Given the description of an element on the screen output the (x, y) to click on. 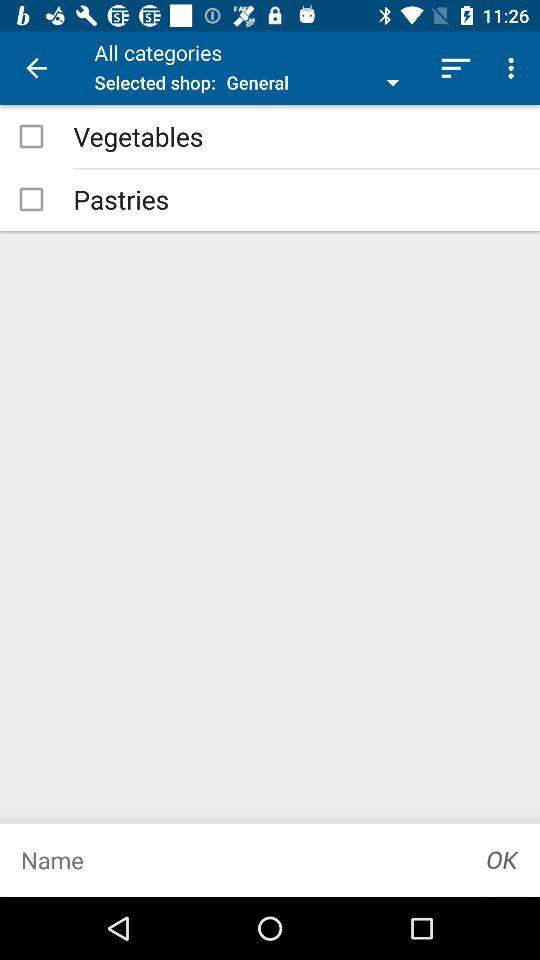
open icon to the left of all categories (36, 68)
